Given the description of an element on the screen output the (x, y) to click on. 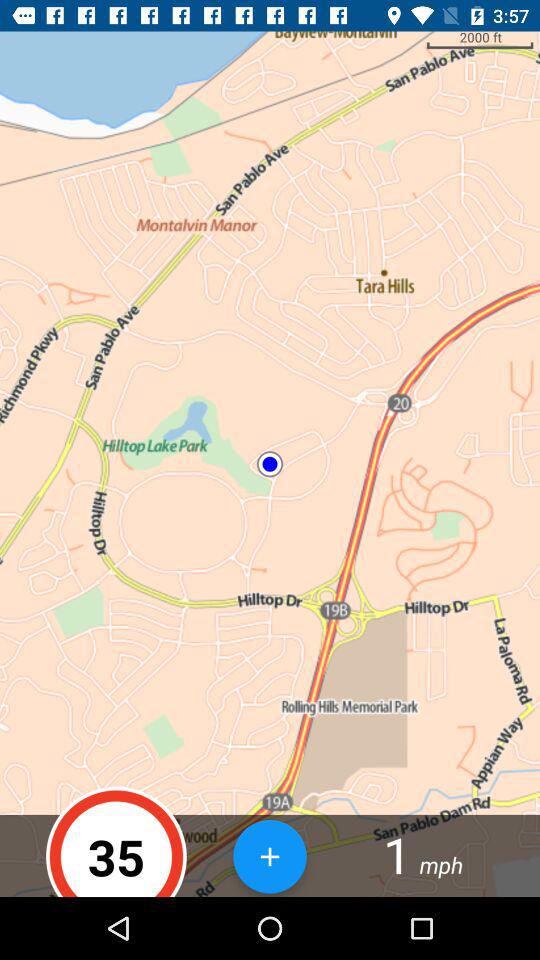
press item to the right of 35 item (269, 856)
